Given the description of an element on the screen output the (x, y) to click on. 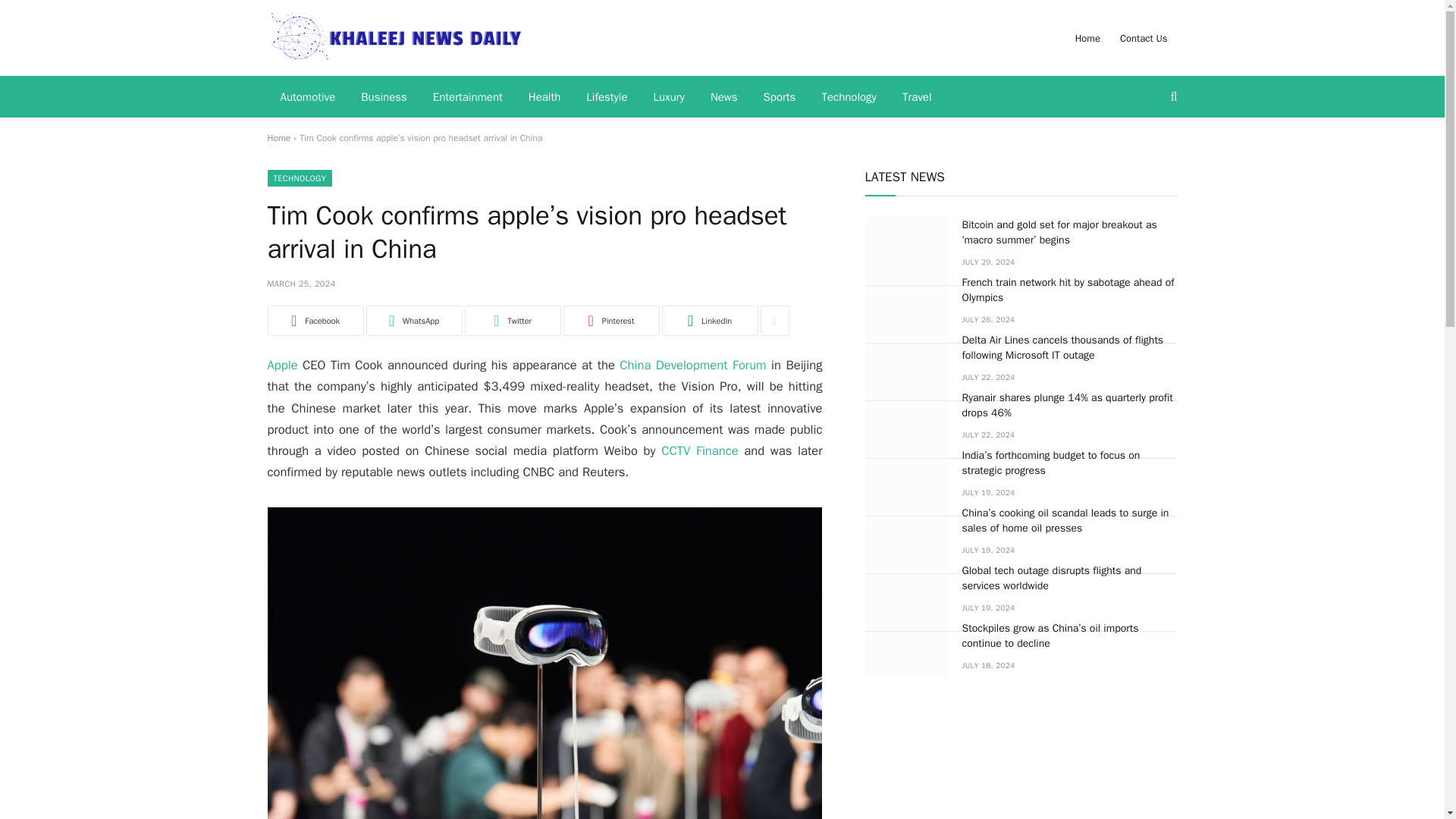
Technology (848, 96)
Entertainment (467, 96)
Share on Pinterest (610, 320)
Contact Us (1143, 38)
News (724, 96)
Travel (916, 96)
Twitter (512, 320)
Apple (281, 365)
TECHNOLOGY (298, 177)
Facebook (314, 320)
LinkedIn (709, 320)
Share on WhatsApp (413, 320)
Automotive (306, 96)
Khaleej News Daily (394, 37)
Home (277, 137)
